Given the description of an element on the screen output the (x, y) to click on. 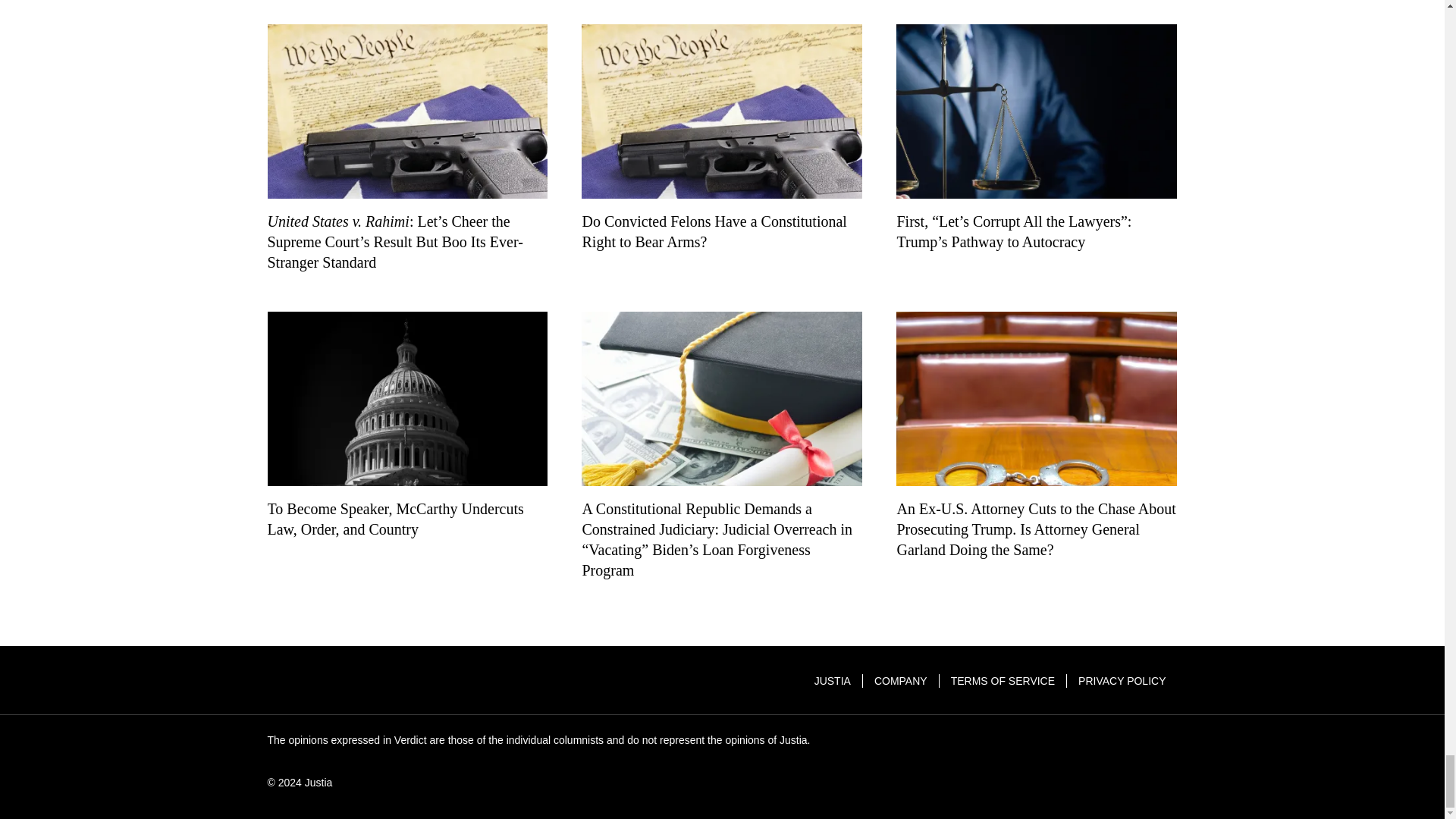
Justia (323, 681)
